Given the description of an element on the screen output the (x, y) to click on. 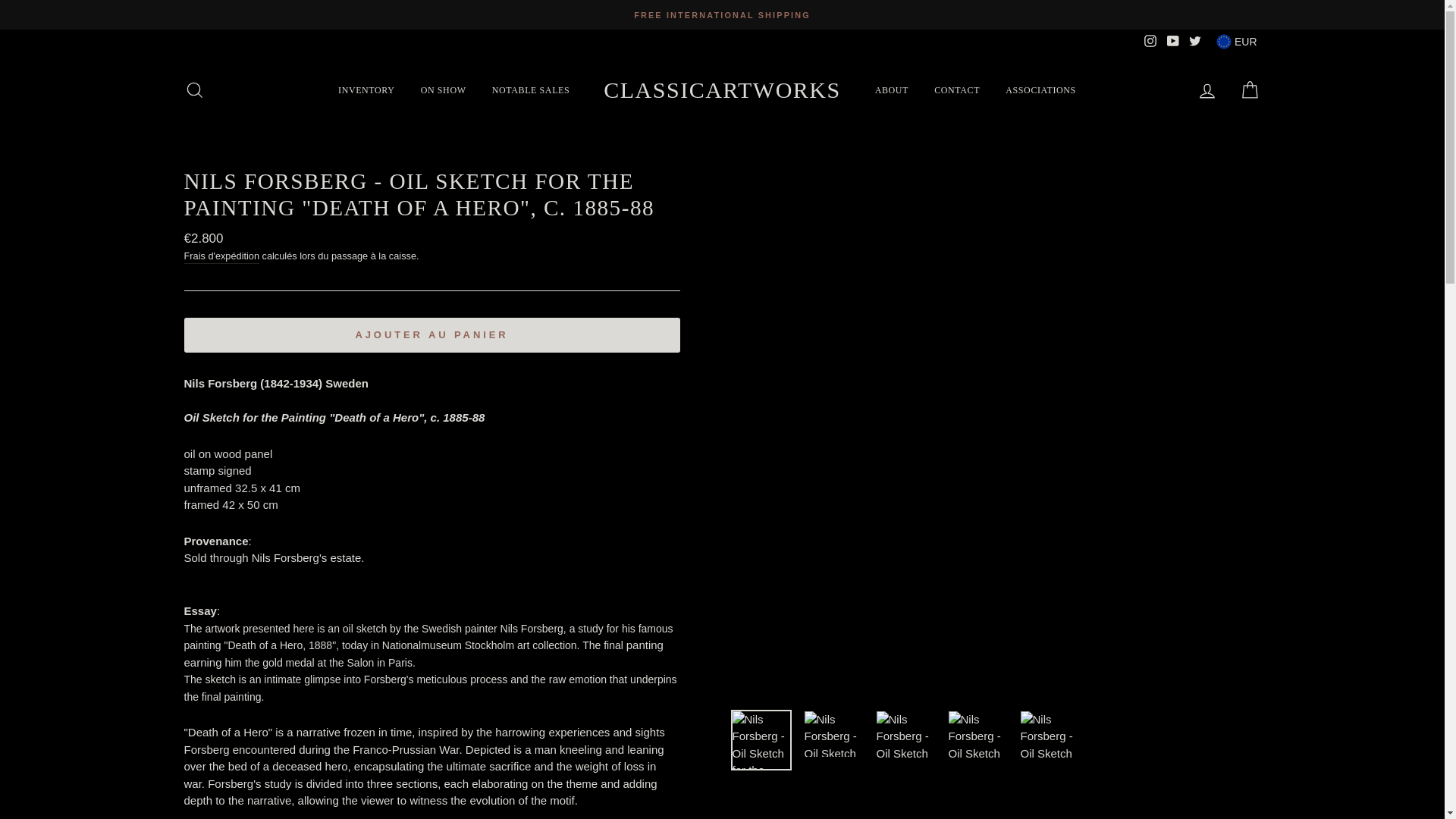
CLASSICARTWORKS sur Twitter (1195, 41)
EUR (1235, 41)
NOTABLE SALES (530, 89)
ASSOCIATIONS (1040, 89)
CLASSICARTWORKS (722, 89)
RECHERCHER (194, 89)
Instagram (1150, 41)
INVENTORY (366, 89)
ABOUT (891, 89)
ON SHOW (443, 89)
